Given the description of an element on the screen output the (x, y) to click on. 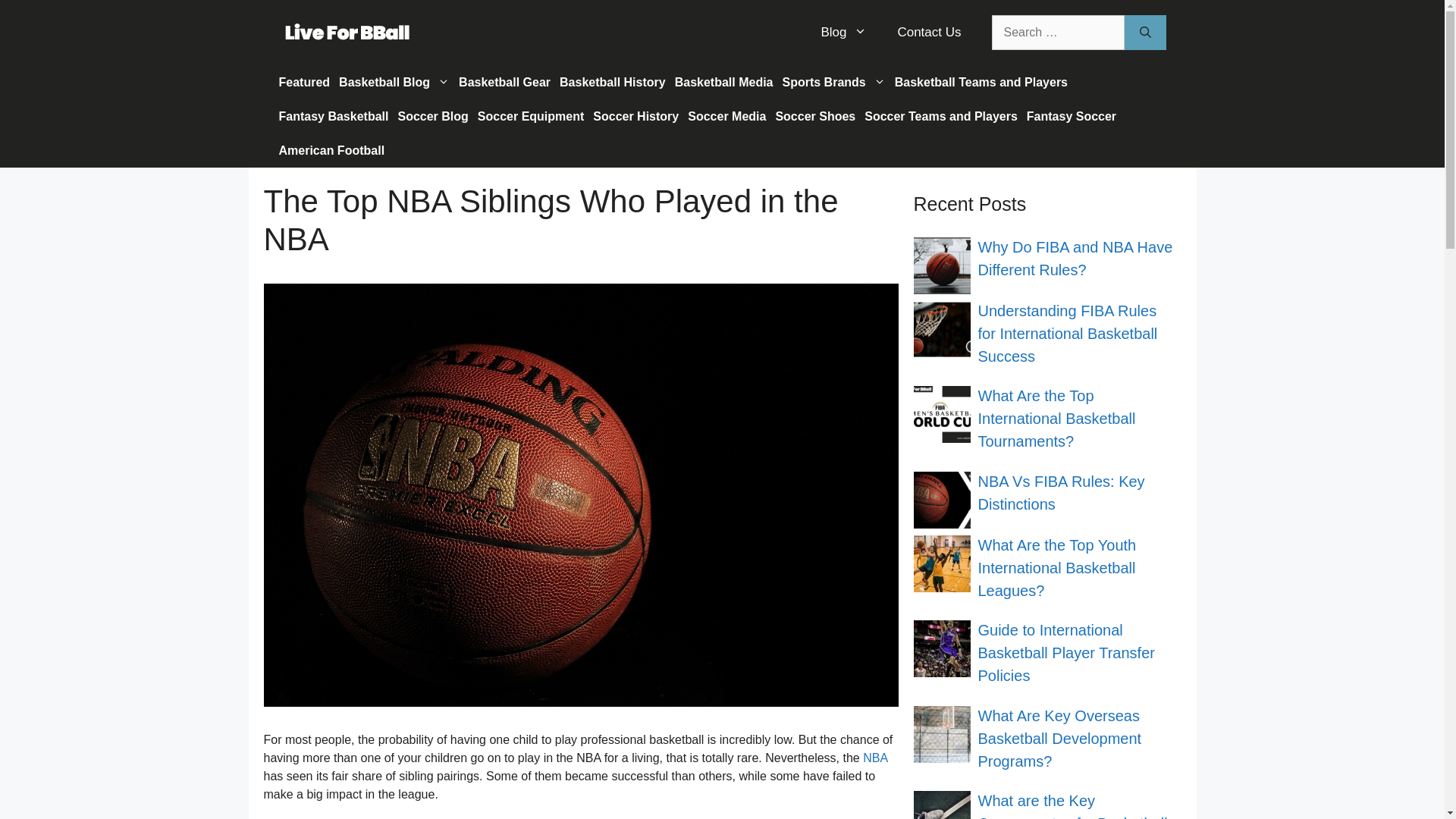
Soccer Blog (432, 116)
Basketball Gear (504, 82)
Featured (304, 82)
Sports Brands (833, 82)
Search for: (1057, 32)
Basketball History (611, 82)
Blog (843, 32)
Basketball Media (723, 82)
Fantasy Basketball (334, 116)
Soccer Equipment (530, 116)
